Given the description of an element on the screen output the (x, y) to click on. 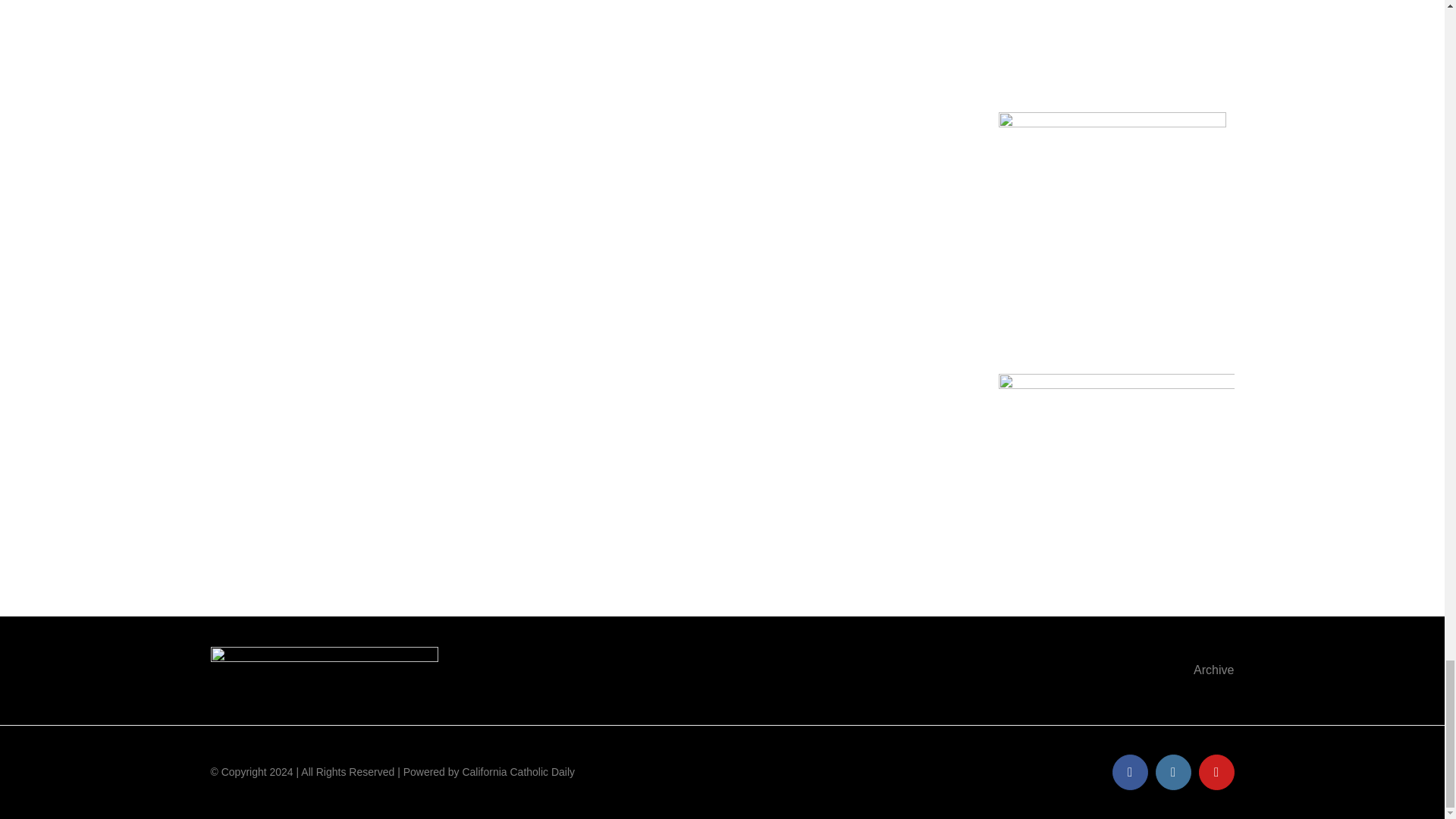
Facebook (1129, 772)
Instagram (1173, 772)
YouTube (1215, 772)
